Given the description of an element on the screen output the (x, y) to click on. 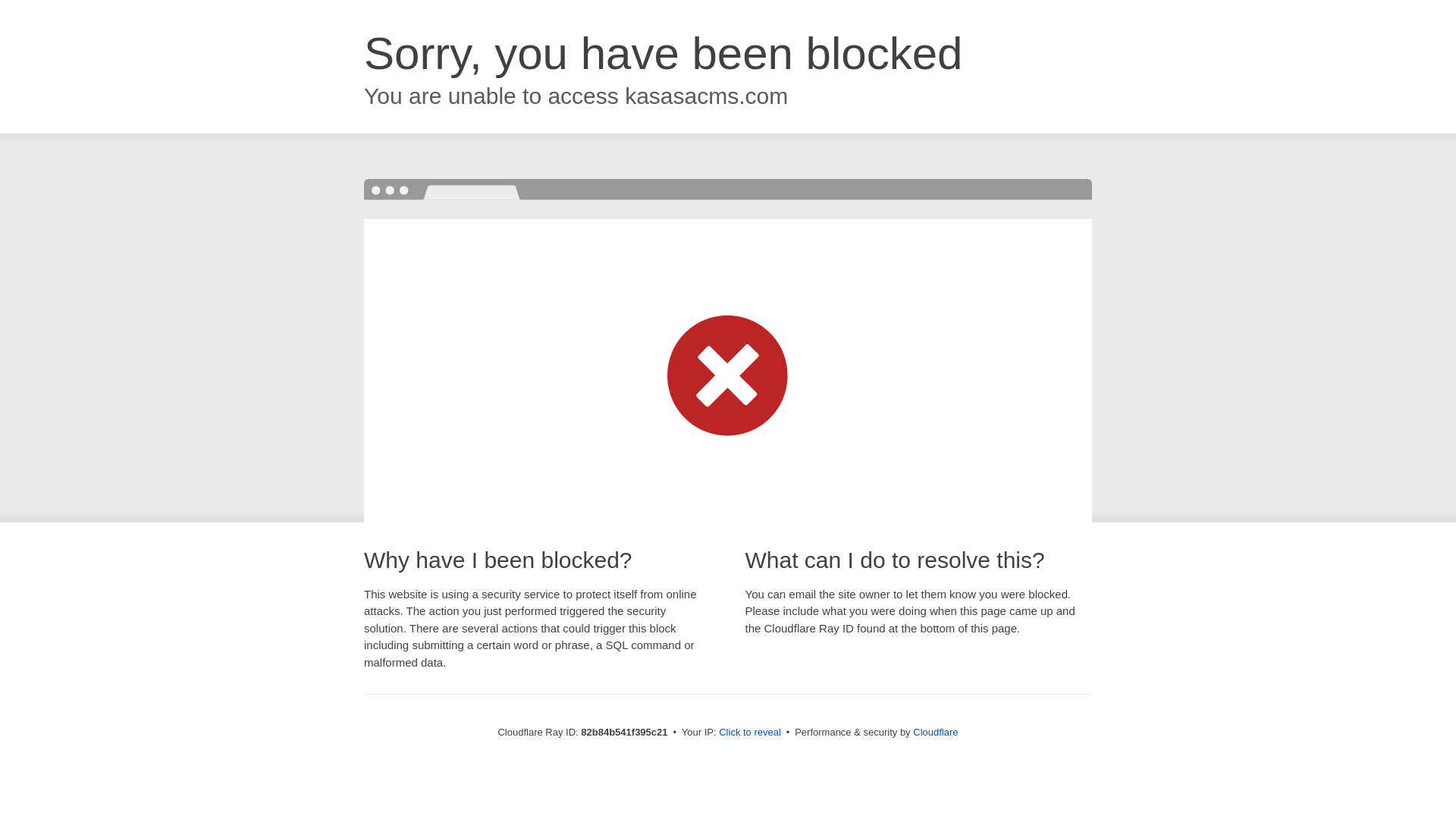
Click to reveal Element type: text (749, 732)
Cloudflare Element type: text (935, 731)
